Given the description of an element on the screen output the (x, y) to click on. 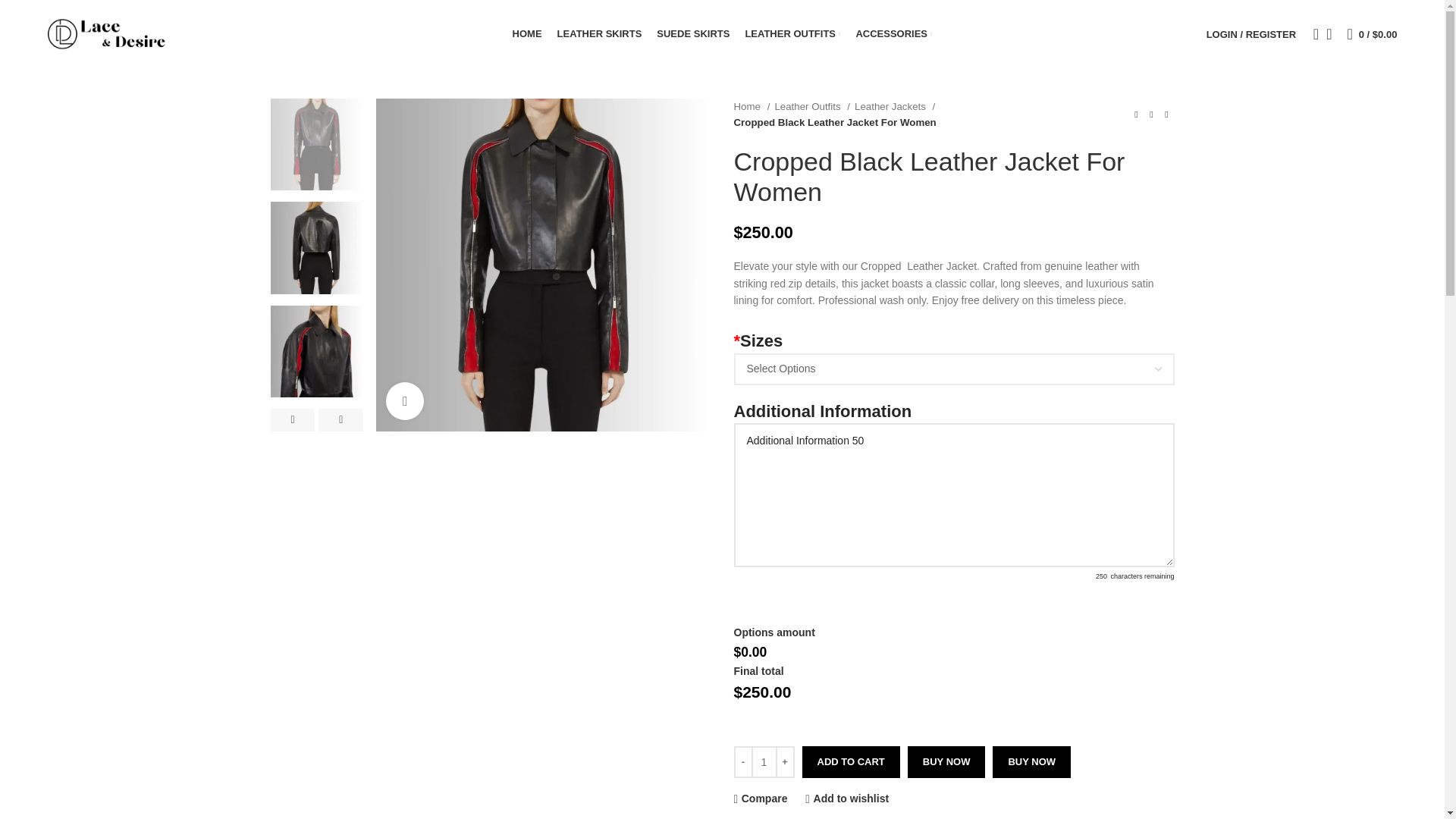
Home (751, 106)
Leather Outfits (812, 106)
NEXT (340, 419)
My account (1250, 33)
SUEDE SKIRTS (692, 33)
PREVIOUS (291, 419)
Cropped Black Leather Jacket - Front View (542, 264)
LEATHER OUTFITS (792, 33)
Shopping cart (1372, 33)
ACCESSORIES (893, 33)
ADD TO CART (850, 762)
LEATHER SKIRTS (599, 33)
Leather Jackets (894, 106)
HOME (526, 33)
